Given the description of an element on the screen output the (x, y) to click on. 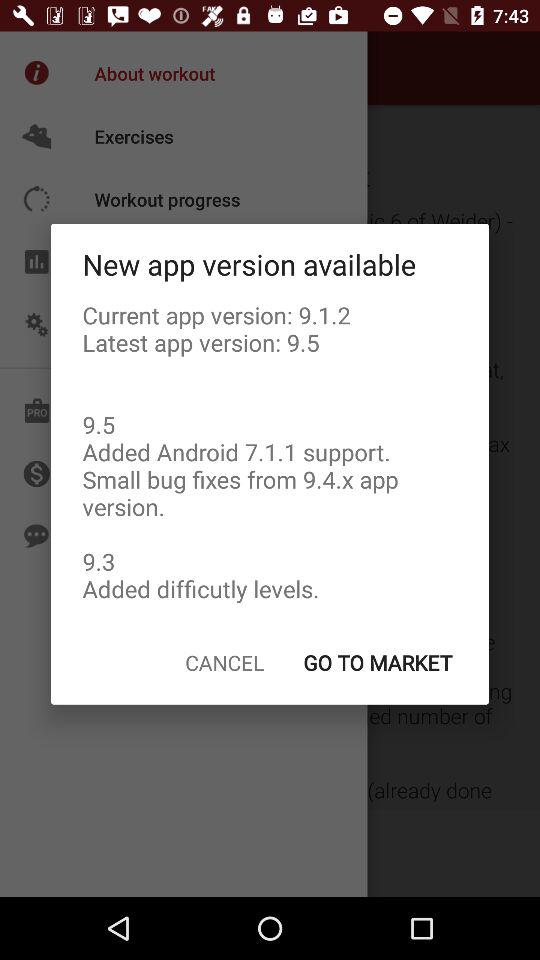
open item at the bottom (224, 662)
